Given the description of an element on the screen output the (x, y) to click on. 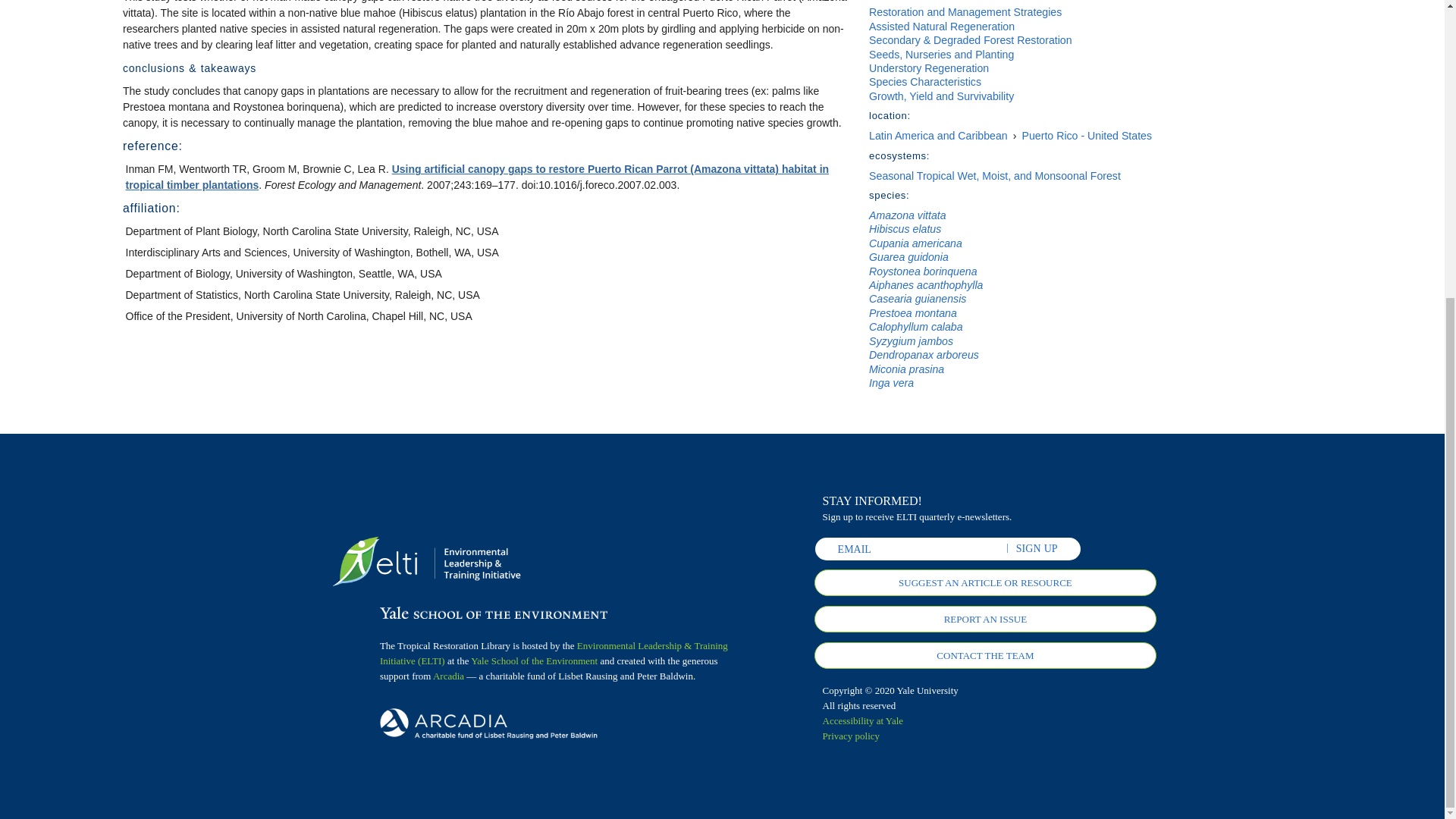
Understory Regeneration (928, 68)
Seeds, Nurseries and Planting (941, 54)
Latin America and Caribbean (938, 135)
Cupania americana (915, 243)
Growth, Yield and Survivability (941, 96)
Puerto Rico - United States (1087, 135)
Sign Up (1037, 548)
Amazona vittata (907, 215)
Seasonal Tropical Wet, Moist, and Monsoonal Forest (995, 175)
Species Characteristics (925, 81)
Assisted Natural Regeneration (941, 26)
Hibiscus elatus (904, 228)
Restoration and Management Strategies (965, 11)
